Given the description of an element on the screen output the (x, y) to click on. 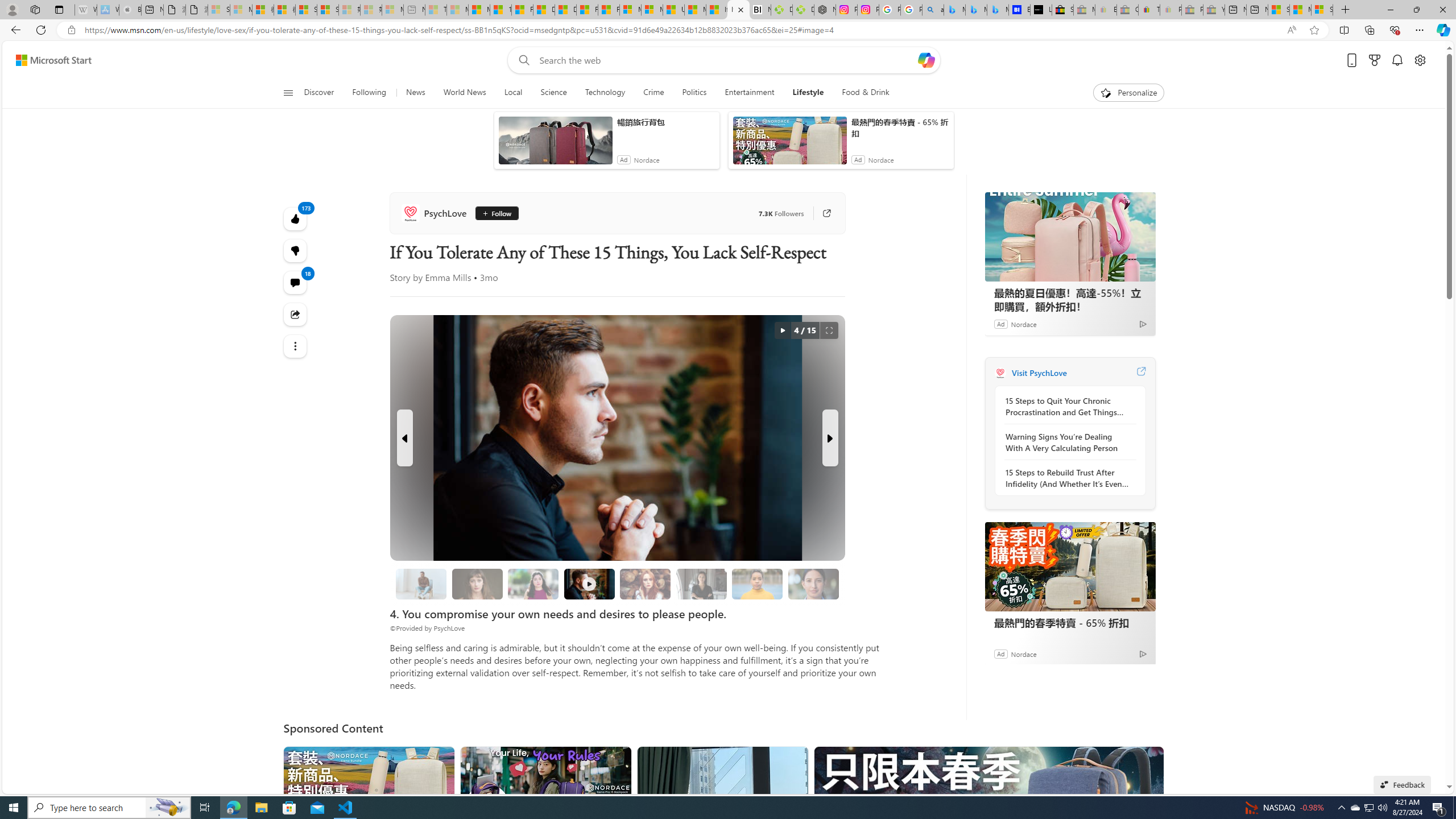
Payments Terms of Use | eBay.com - Sleeping (1170, 9)
Share this story (295, 314)
Nordace - Nordace Edin Collection (824, 9)
alabama high school quarterback dies - Search (933, 9)
